Given the description of an element on the screen output the (x, y) to click on. 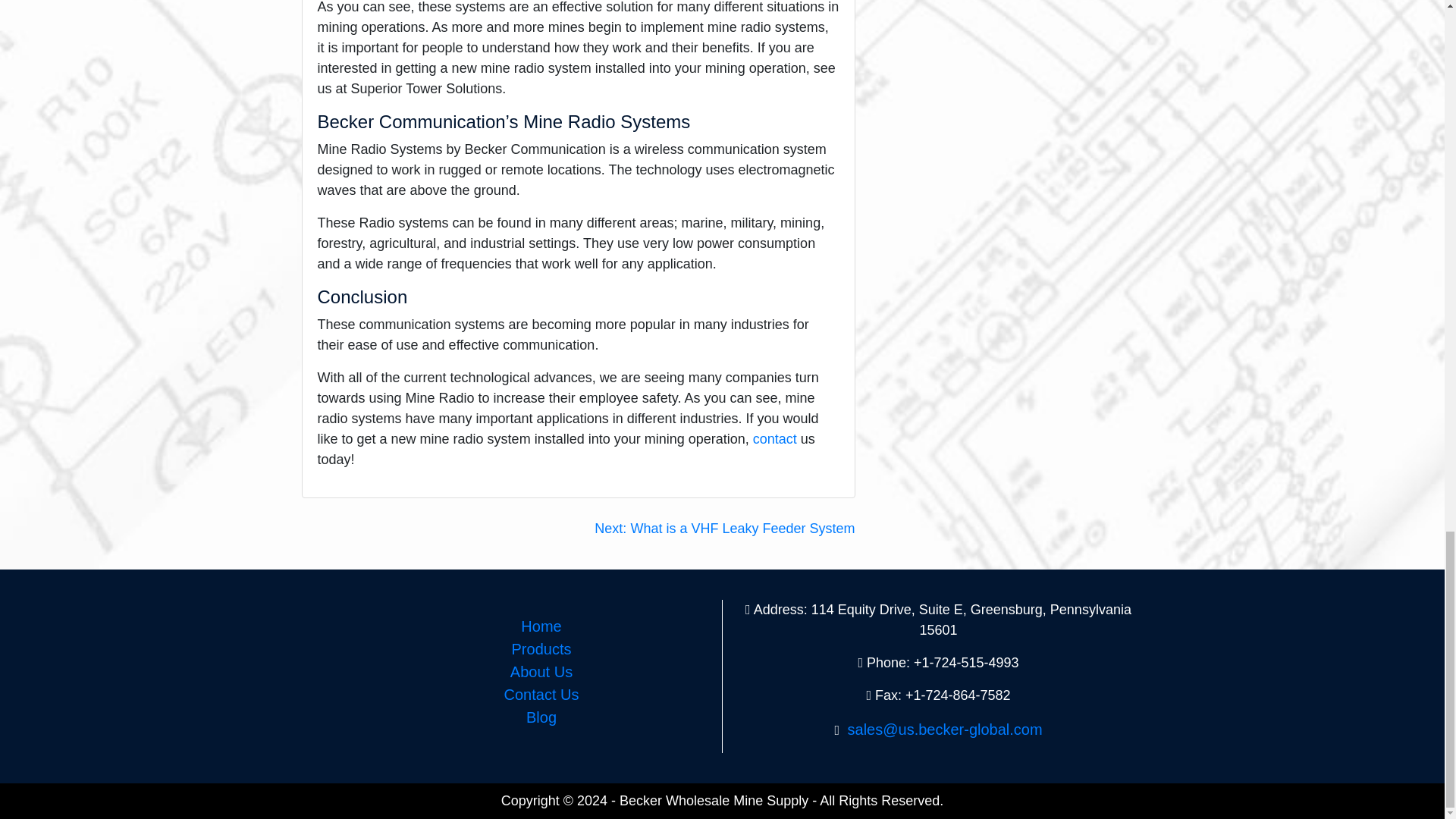
Blog (540, 717)
contact (774, 438)
Next: What is a VHF Leaky Feeder System (724, 528)
Contact Us (541, 694)
About Us (541, 671)
Home (540, 626)
Products (542, 648)
